Given the description of an element on the screen output the (x, y) to click on. 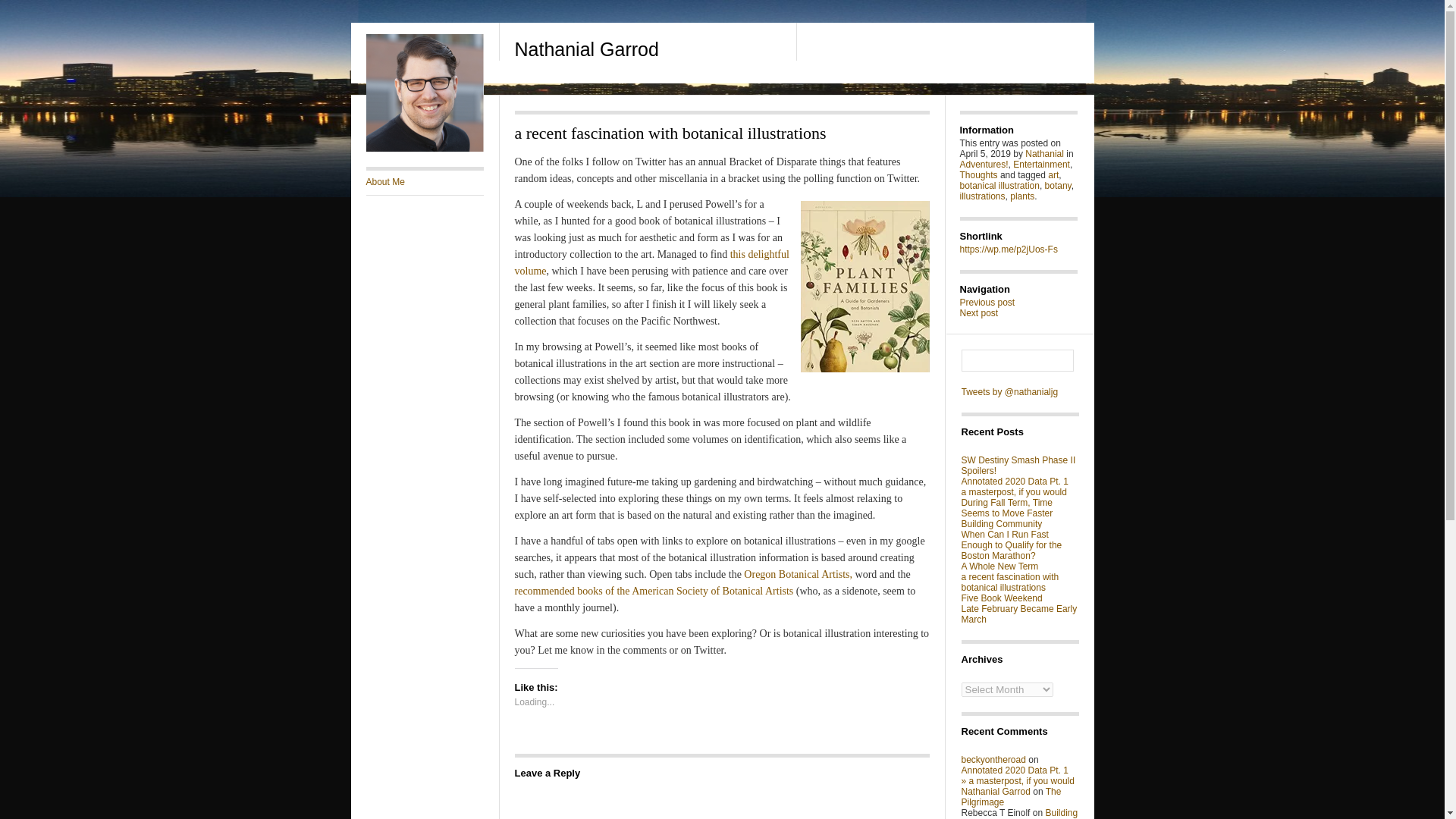
art (1053, 174)
botany (1058, 185)
Thoughts (978, 174)
Entertainment (1041, 163)
this delightful volume (651, 262)
botanical illustration (999, 185)
SW Destiny Smash Phase II Spoilers! (1017, 465)
Comment Form (720, 800)
Annotated 2020 Data Pt. 1 (1014, 769)
